Given the description of an element on the screen output the (x, y) to click on. 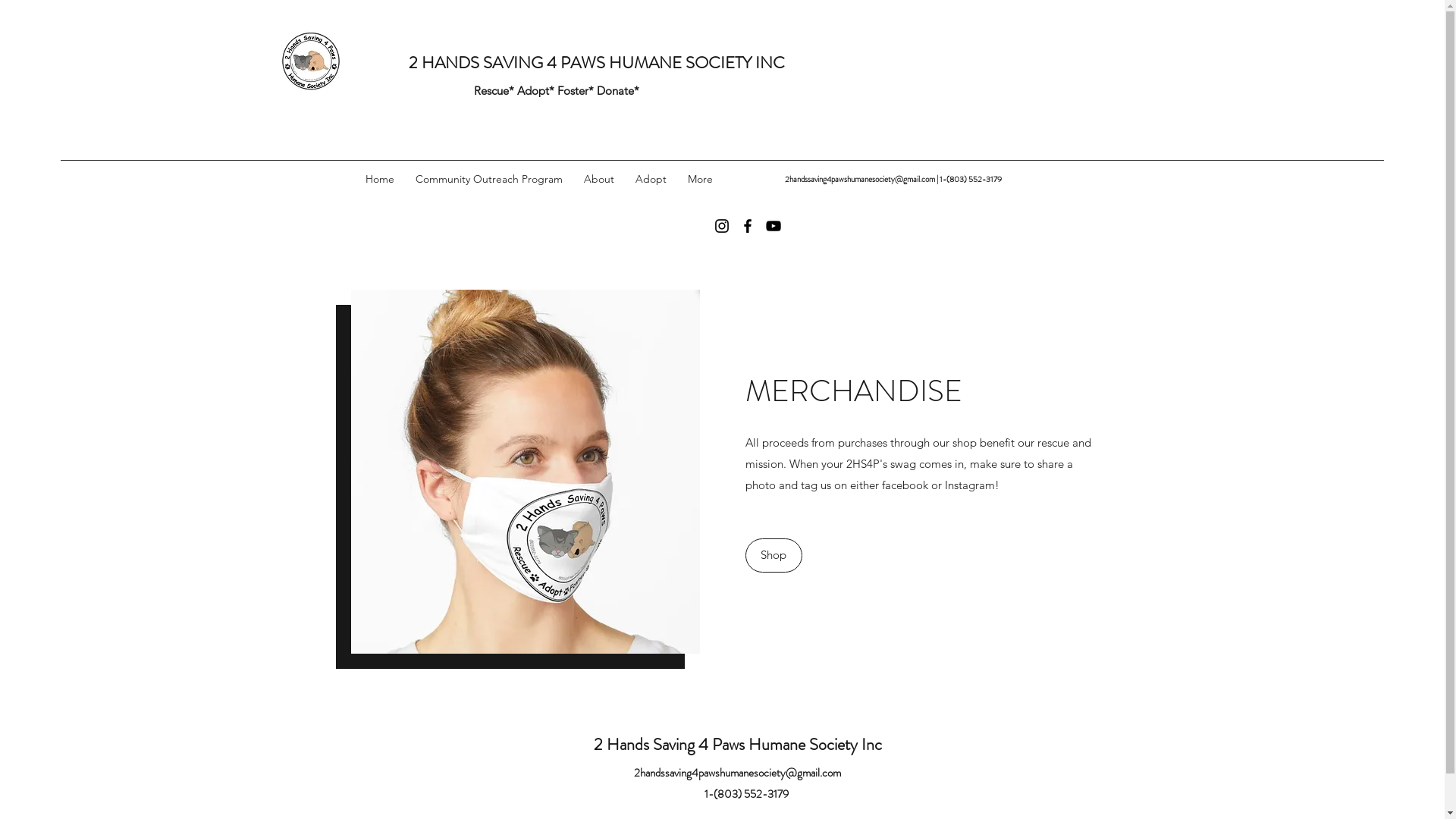
Home Element type: text (379, 178)
2handssaving4pawshumanesociety@gmail.com Element type: text (859, 178)
Shop Element type: text (772, 555)
Community Outreach Program Element type: text (488, 178)
2 Hands Saving 4 Paws Humane Society Inc Element type: text (737, 744)
2handssaving4pawshumanesociety@gmail.com Element type: text (736, 772)
2 HANDS SAVING 4 PAWS HUMANE SOCIETY INC Element type: text (595, 62)
